Given the description of an element on the screen output the (x, y) to click on. 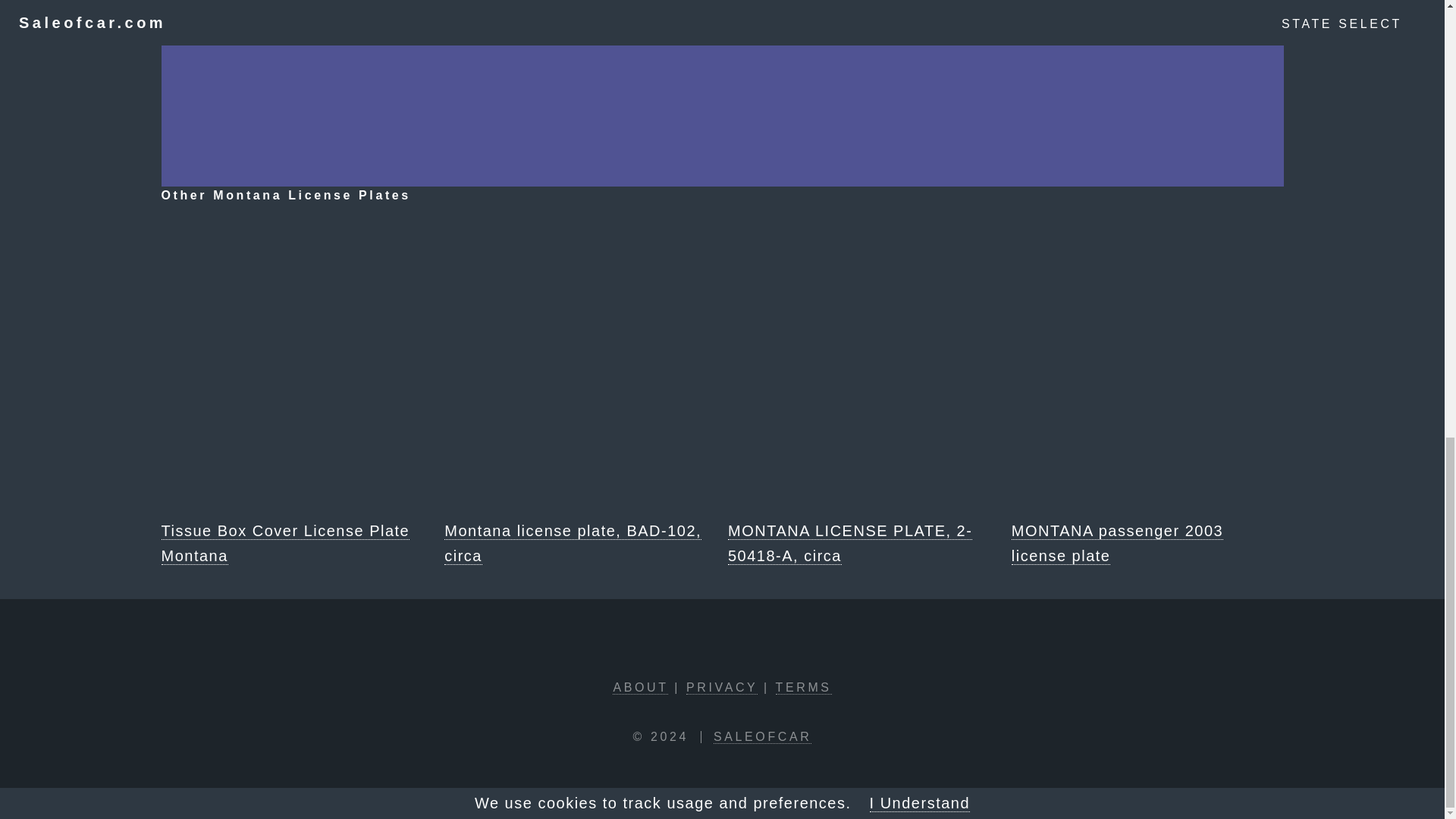
Tissue Box Cover License Plate Montana (296, 391)
MONTANA LICENSE PLATE, 2-50418-A, circa (864, 391)
ABOUT (640, 687)
SALEOFCAR (761, 736)
Advertisement (721, 47)
Montana license plate, BAD-102, circa (580, 391)
MONTANA passenger 2003 license plate (1147, 391)
PRIVACY (721, 687)
TERMS (803, 687)
